Given the description of an element on the screen output the (x, y) to click on. 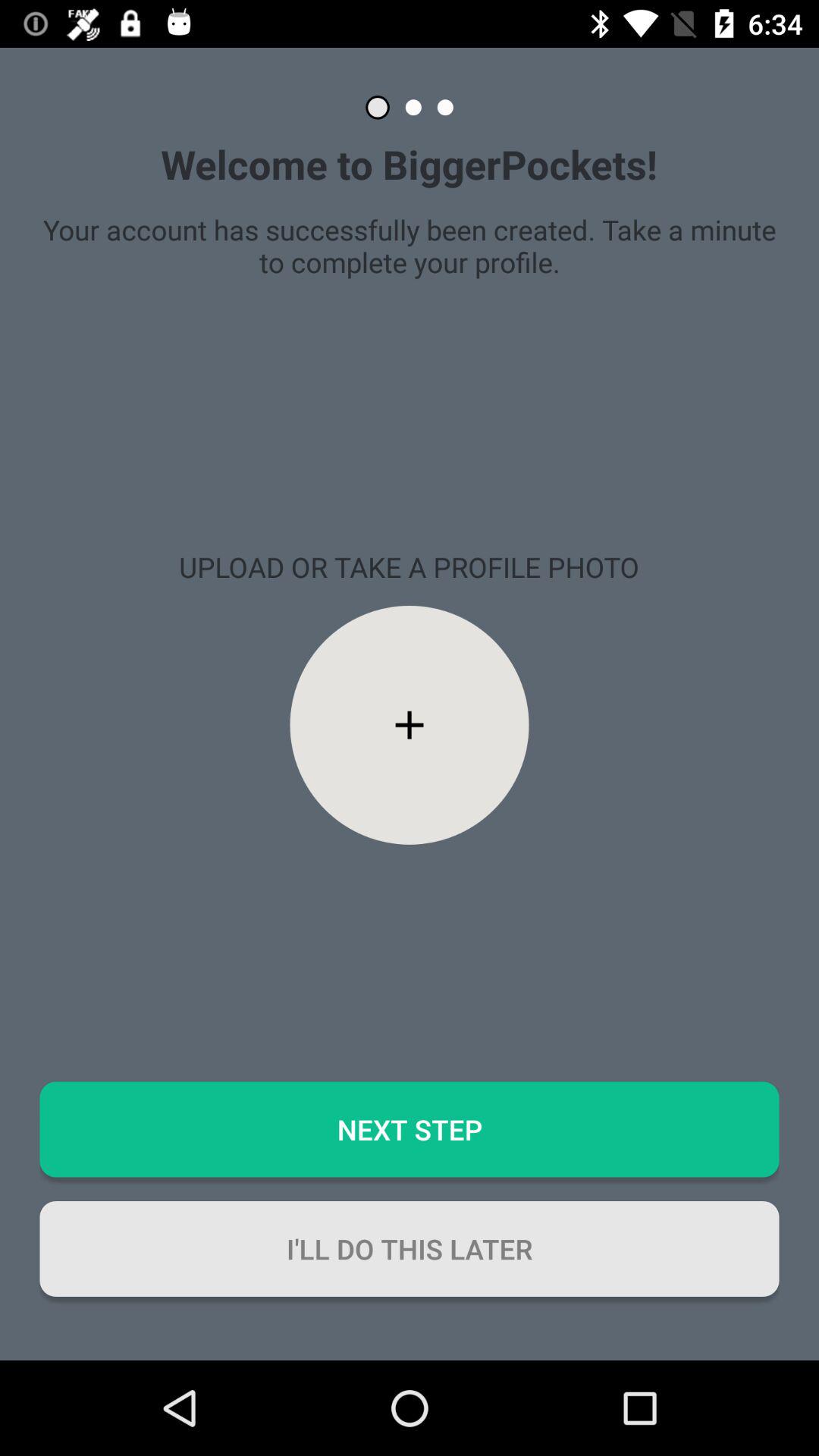
turn off the i ll do button (409, 1248)
